Given the description of an element on the screen output the (x, y) to click on. 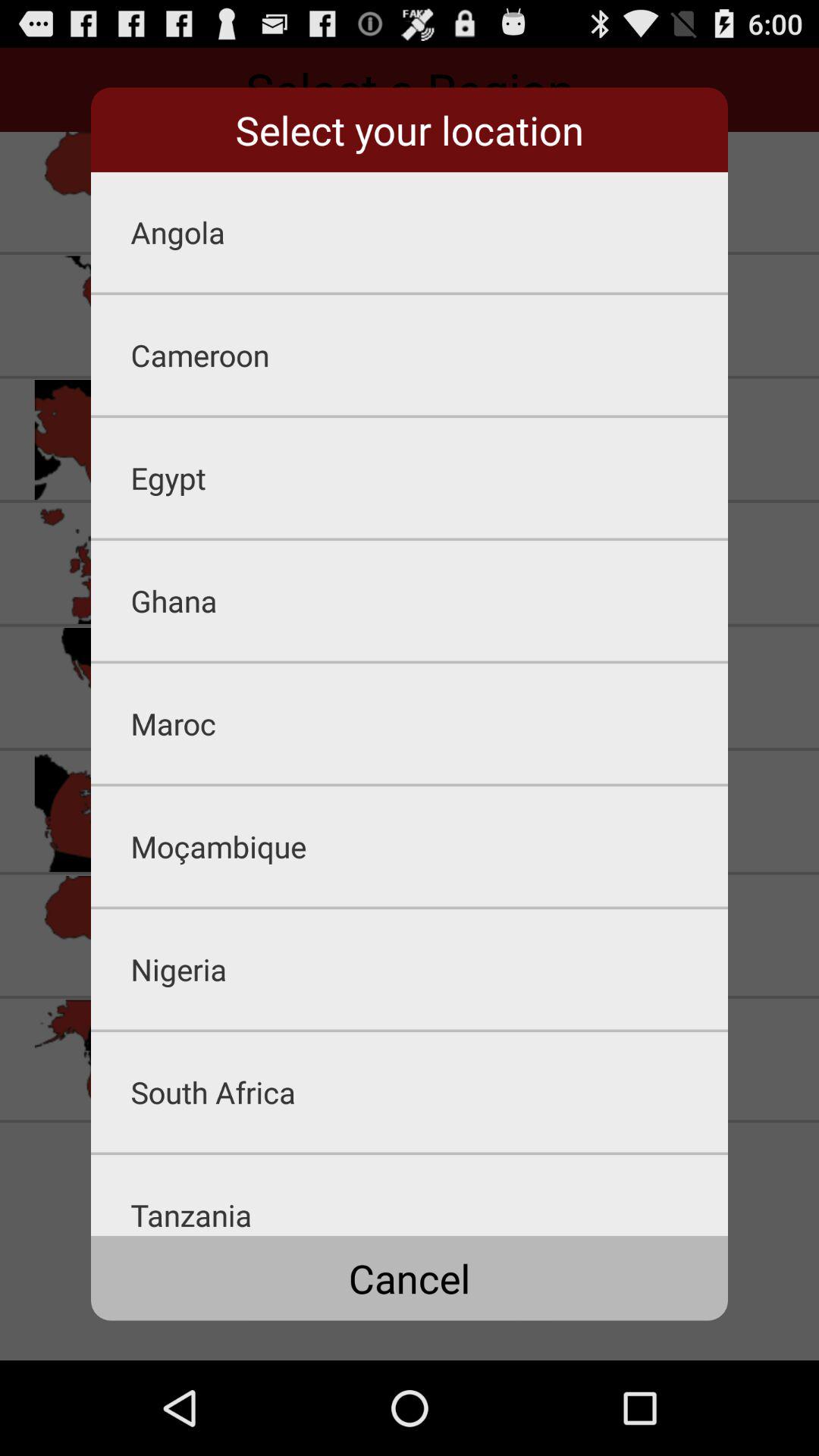
swipe to the tanzania (429, 1195)
